Given the description of an element on the screen output the (x, y) to click on. 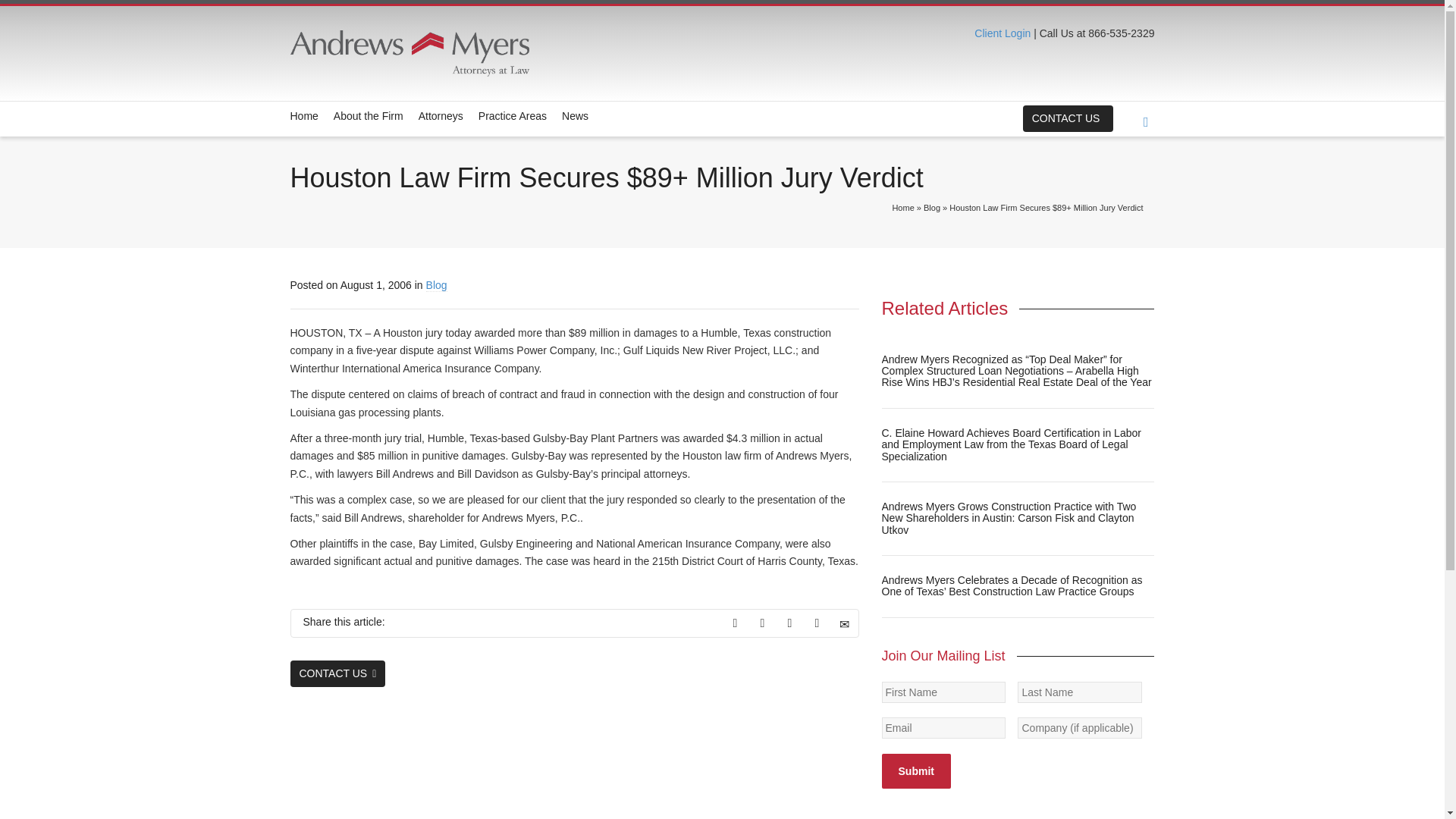
Submit (915, 770)
Andrews Myers (425, 53)
Client Login (1002, 33)
